Given the description of an element on the screen output the (x, y) to click on. 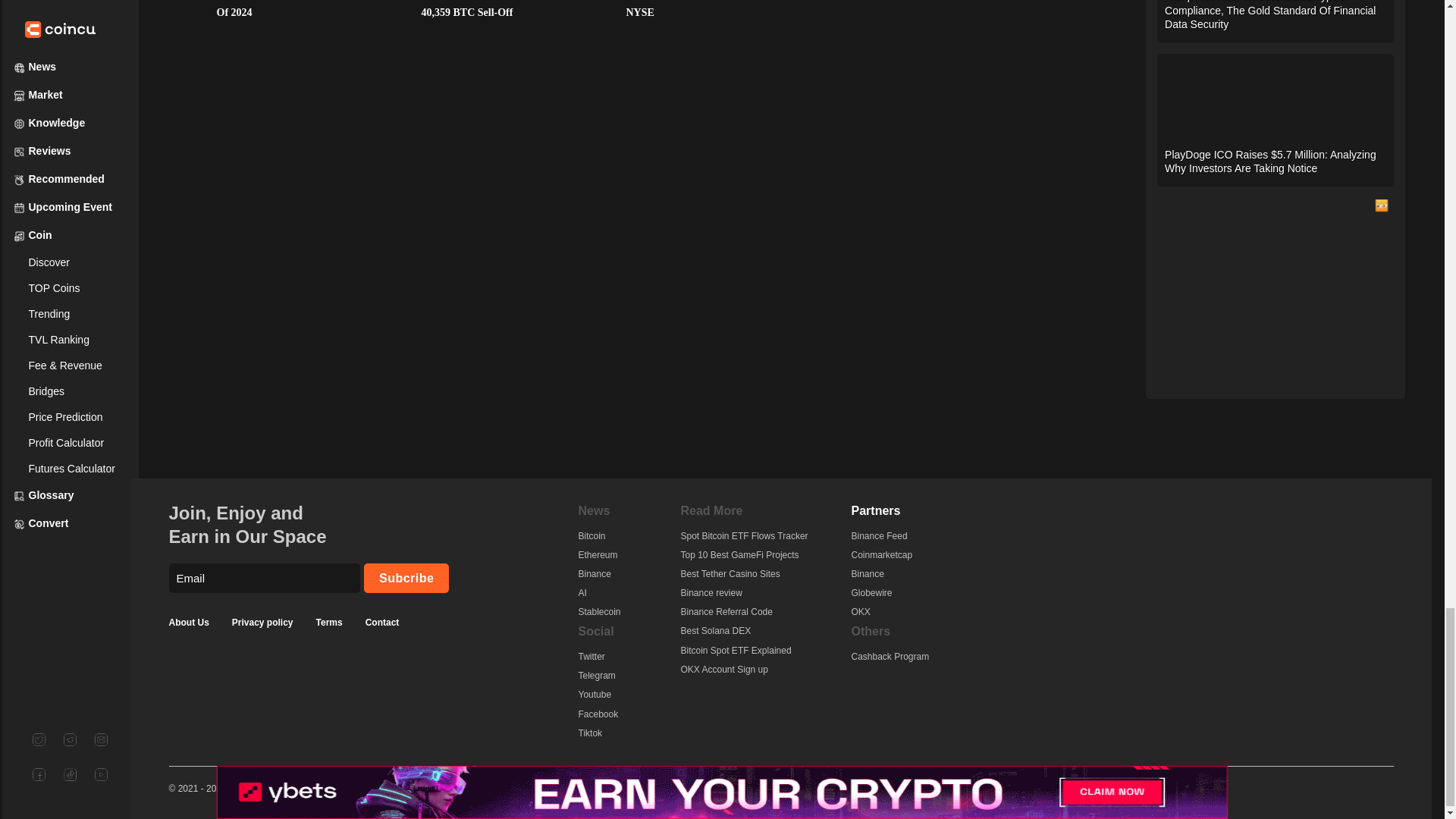
Subcribe (406, 577)
